Given the description of an element on the screen output the (x, y) to click on. 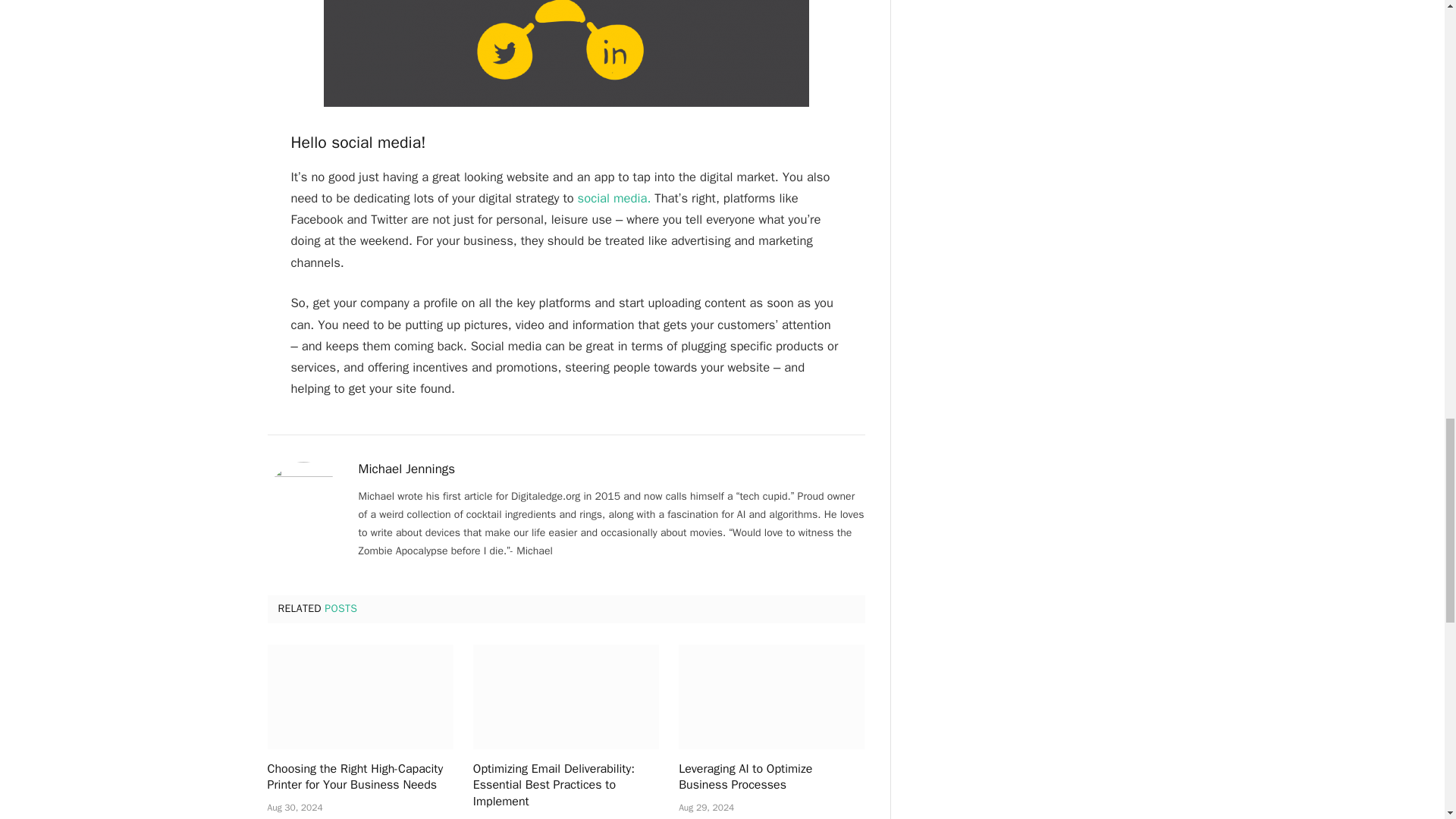
Leveraging AI to Optimize Business Processes (771, 696)
Posts by Michael Jennings (406, 468)
